Given the description of an element on the screen output the (x, y) to click on. 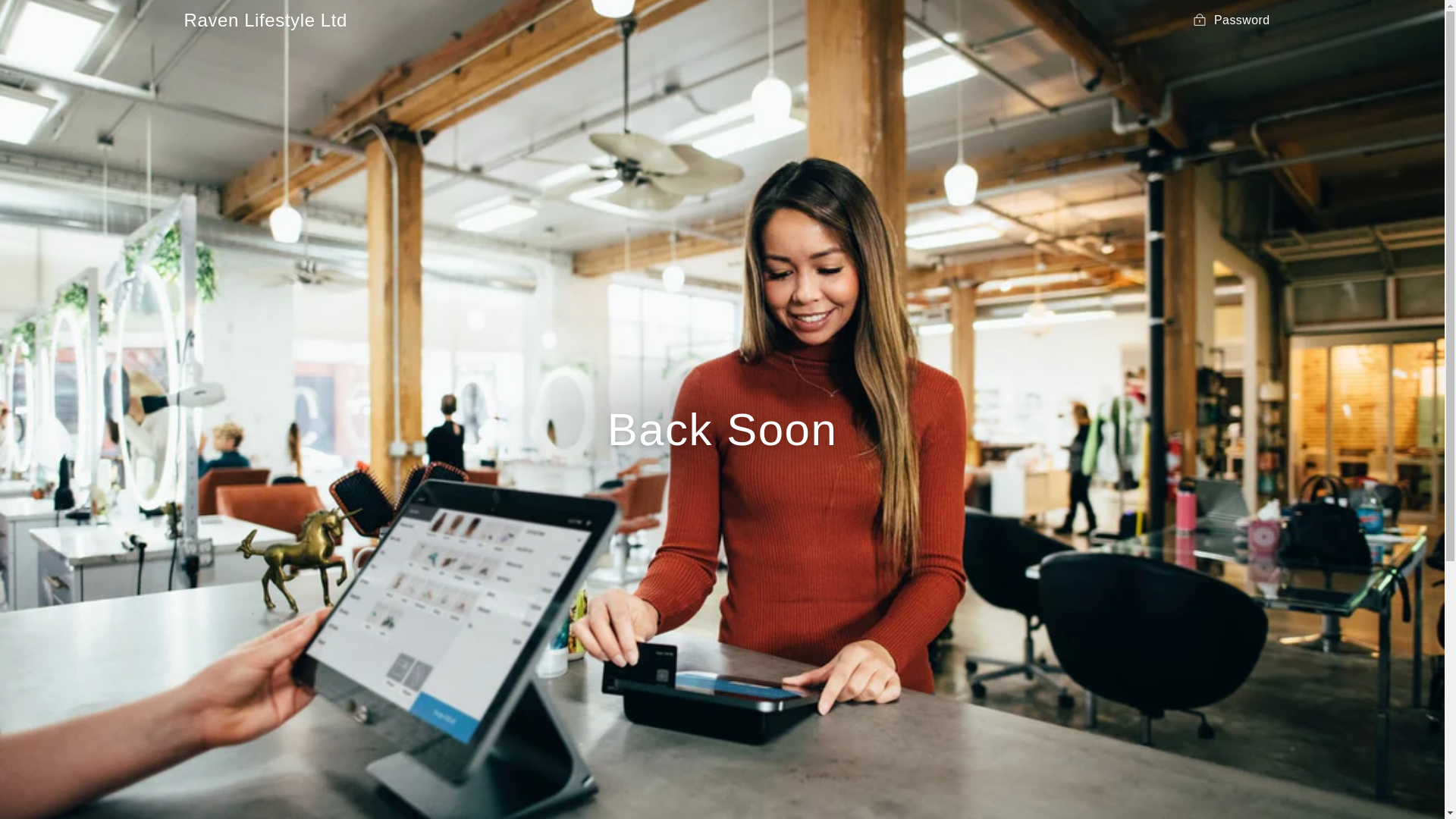
Password (1230, 20)
